Given the description of an element on the screen output the (x, y) to click on. 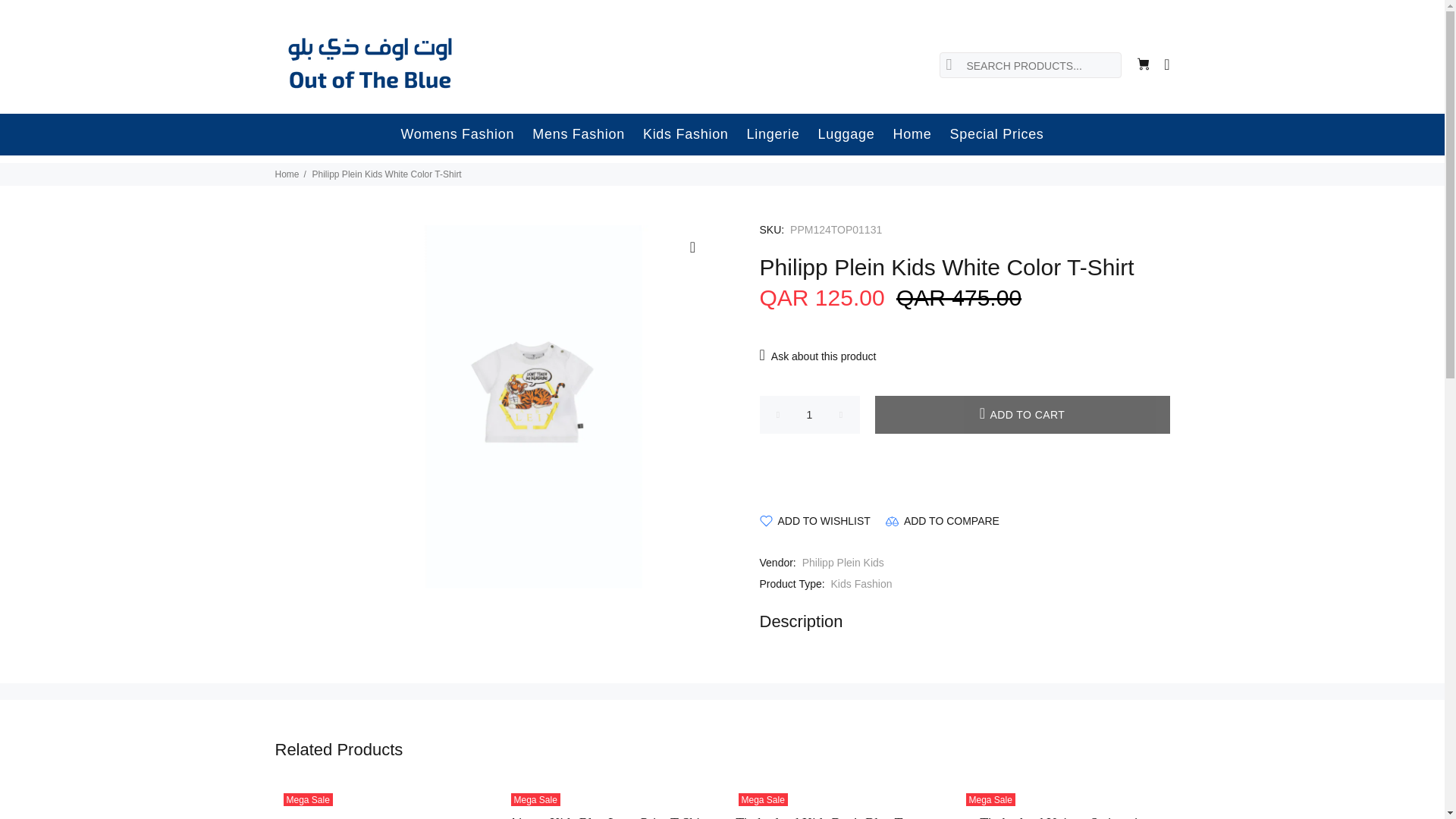
Mens Fashion (577, 134)
Kids Fashion (685, 134)
1 (810, 414)
Philipp Plein Kids (842, 562)
Womens Fashion (456, 134)
